Given the description of an element on the screen output the (x, y) to click on. 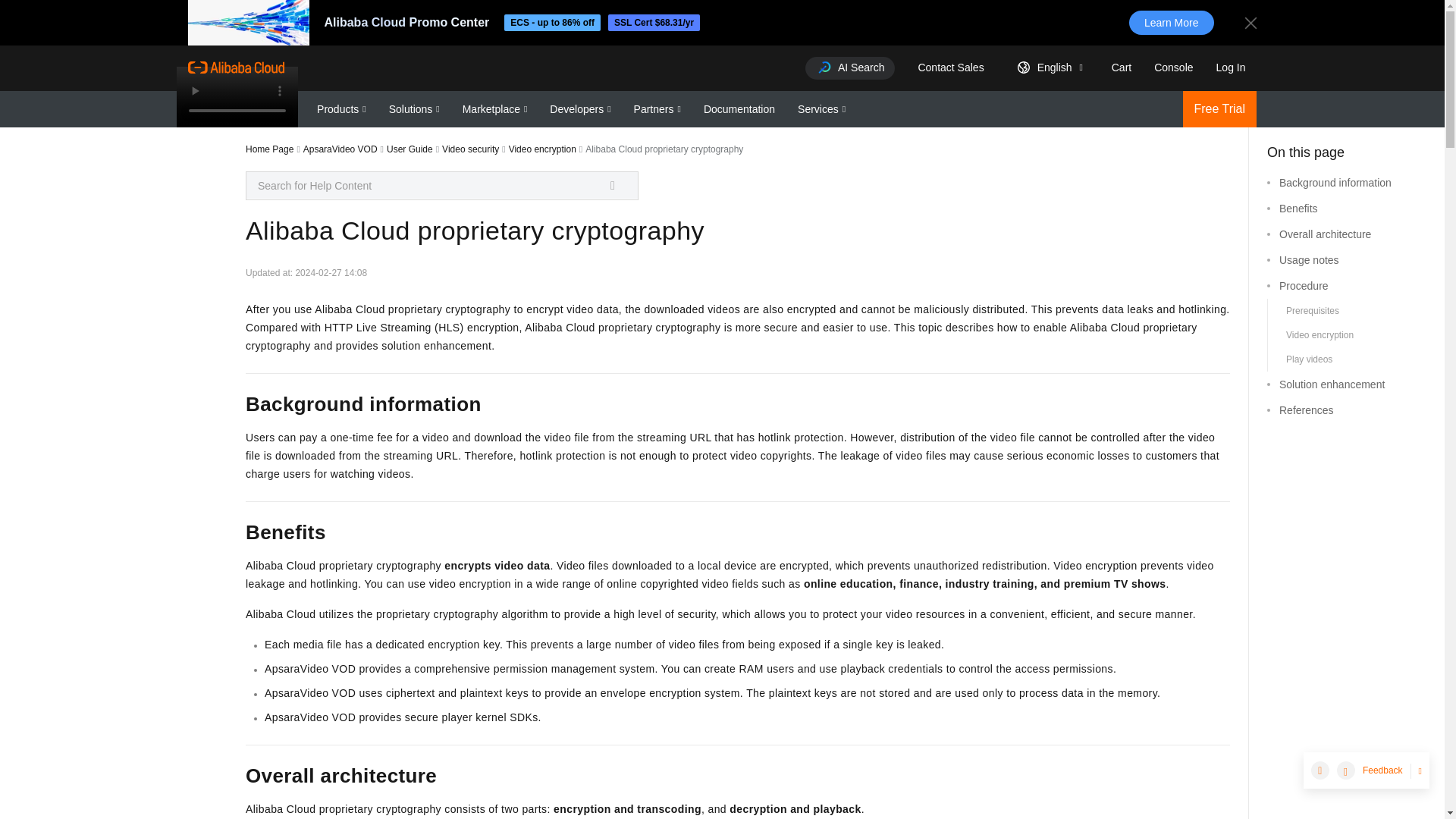
Contact Sales (949, 67)
Alibaba Cloud (235, 67)
English (1046, 67)
